Given the description of an element on the screen output the (x, y) to click on. 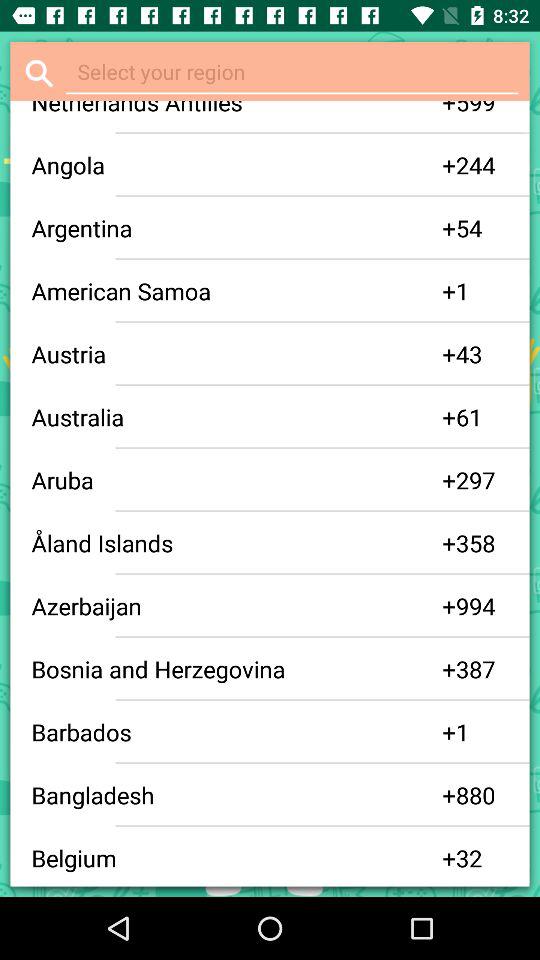
choose app to the right of the azerbaijan icon (449, 606)
